Given the description of an element on the screen output the (x, y) to click on. 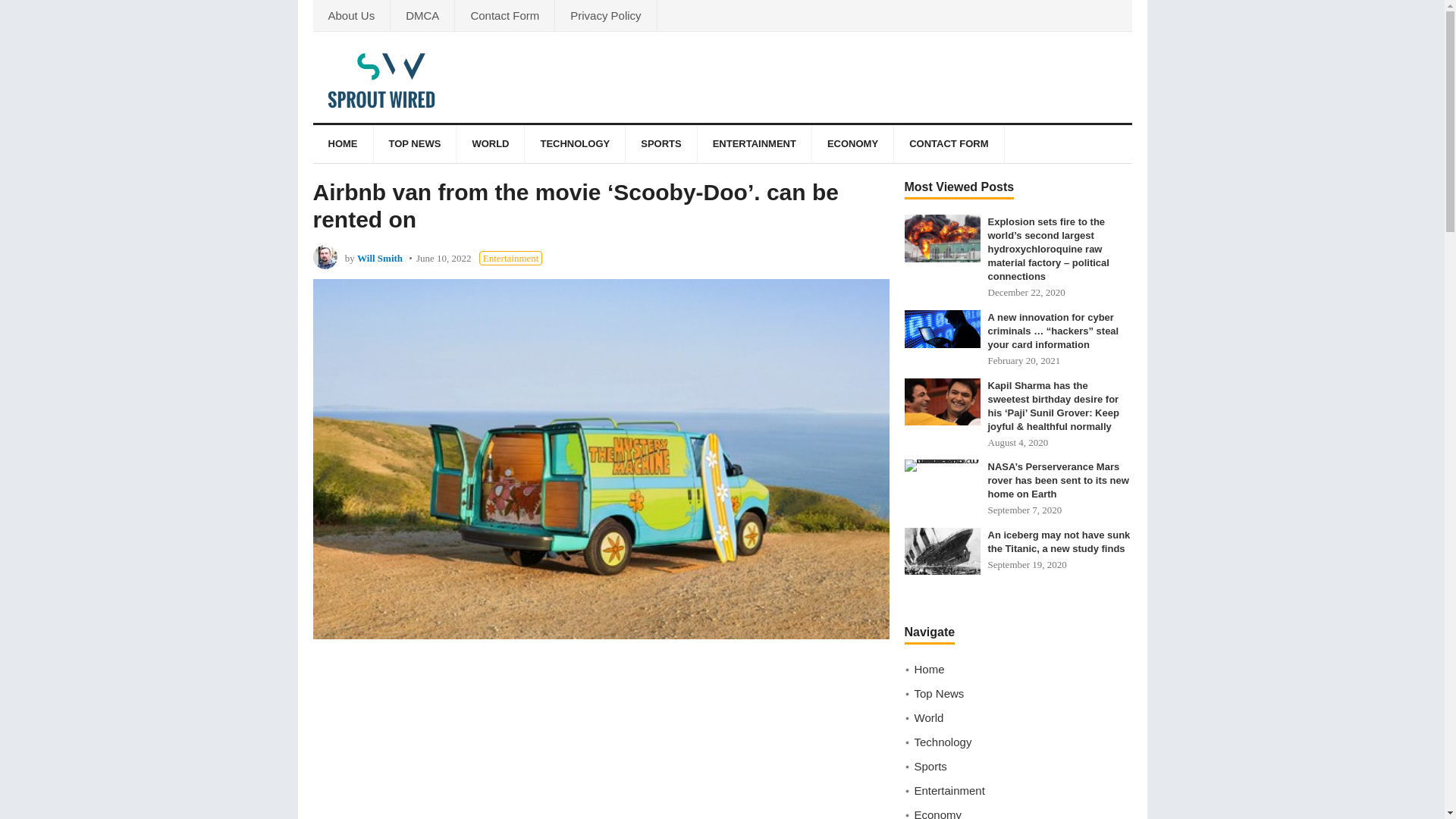
ECONOMY (852, 143)
CONTACT FORM (948, 143)
Will Smith (379, 257)
About Us (351, 15)
Contact Form (504, 15)
Posts by Will Smith (379, 257)
Advertisement (600, 739)
TOP NEWS (413, 143)
Entertainment (511, 257)
SPORTS (660, 143)
